Given the description of an element on the screen output the (x, y) to click on. 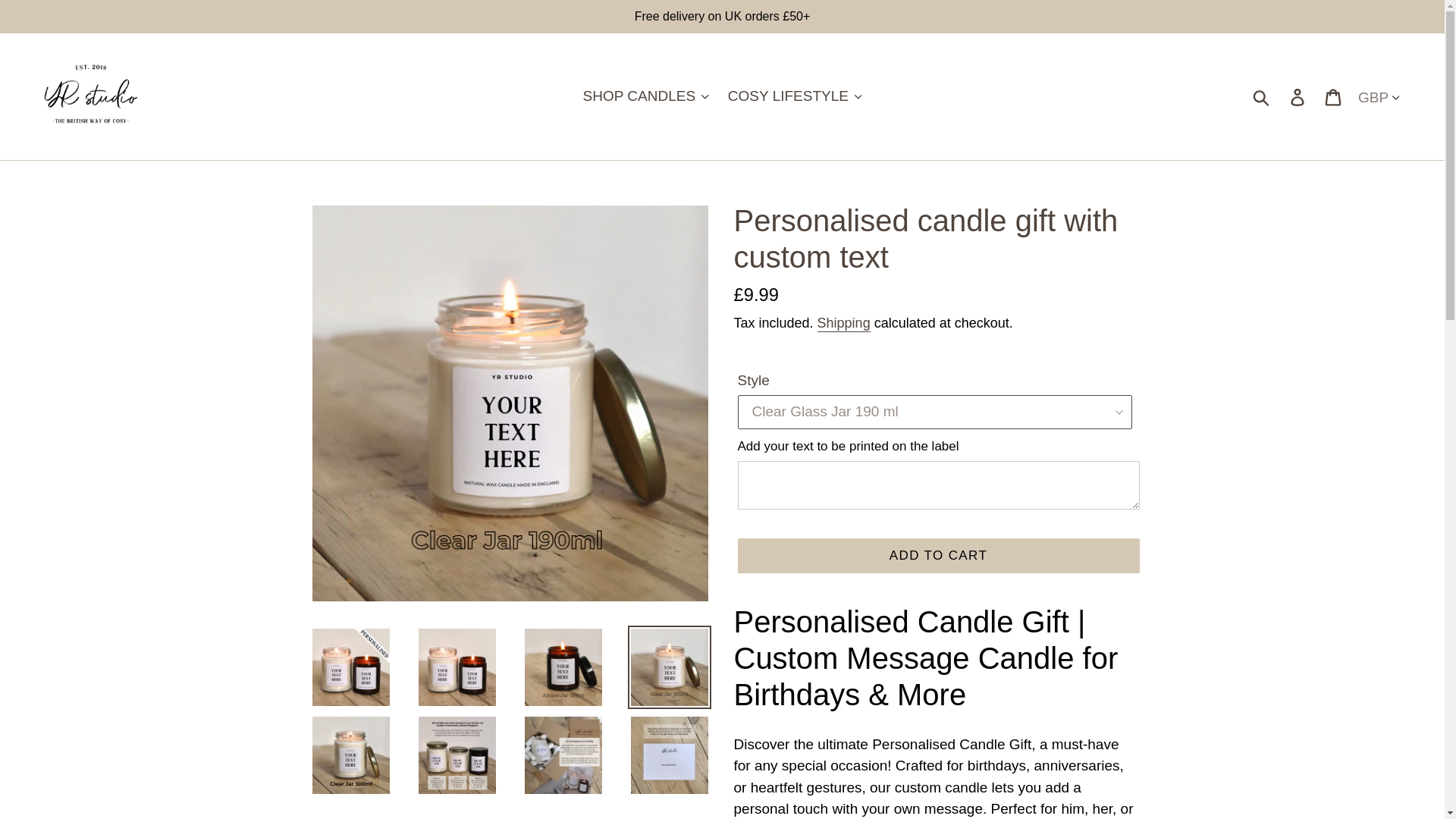
Log in (1298, 96)
Cart (1334, 96)
Submit (1262, 96)
